Given the description of an element on the screen output the (x, y) to click on. 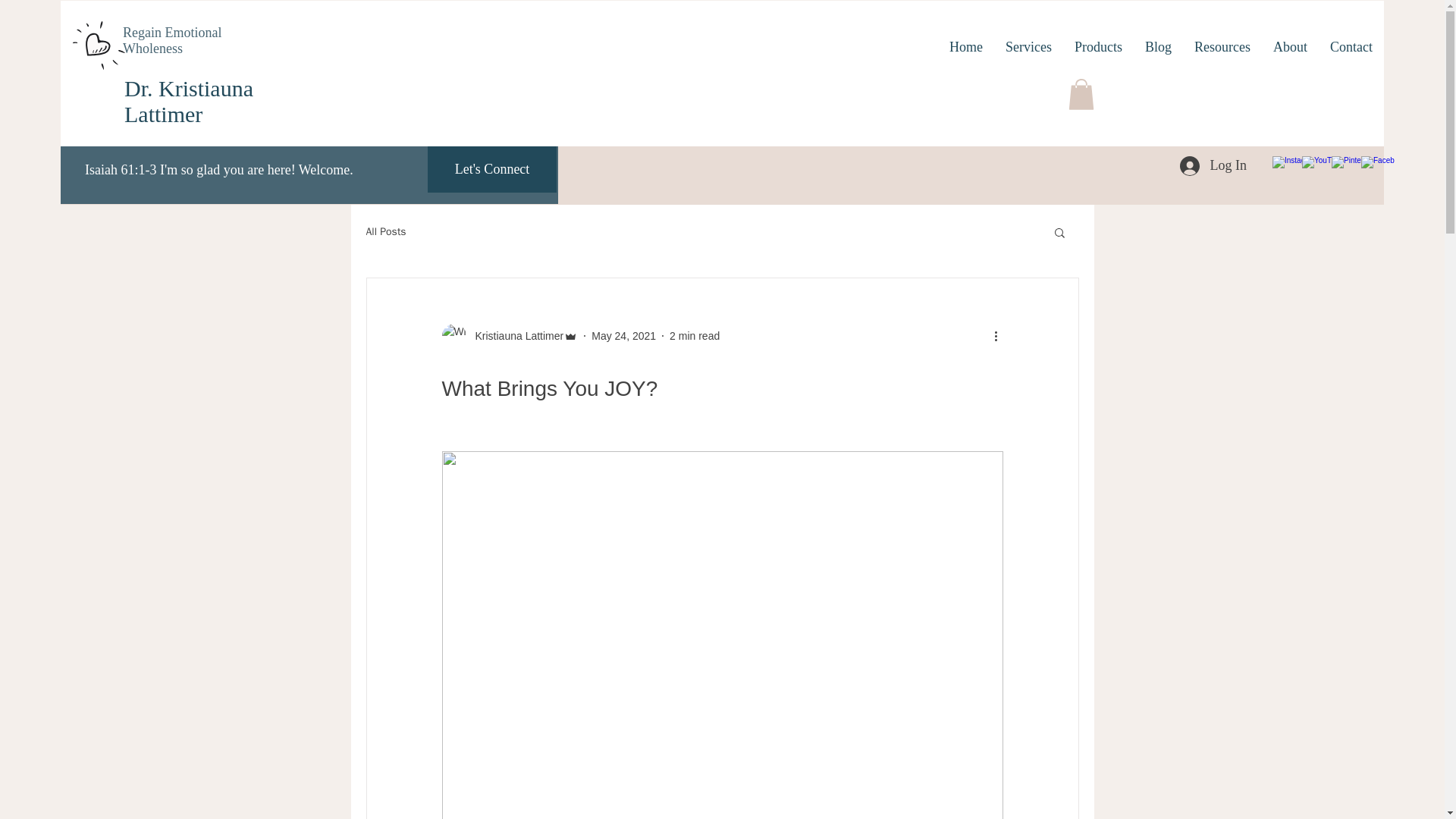
Log In (1213, 165)
Products (1098, 46)
Blog (1158, 46)
Resources (1222, 46)
Contact (1351, 46)
About (1290, 46)
Let's Connect (492, 169)
May 24, 2021 (623, 335)
Services (1028, 46)
Kristiauna Lattimer (514, 335)
